Given the description of an element on the screen output the (x, y) to click on. 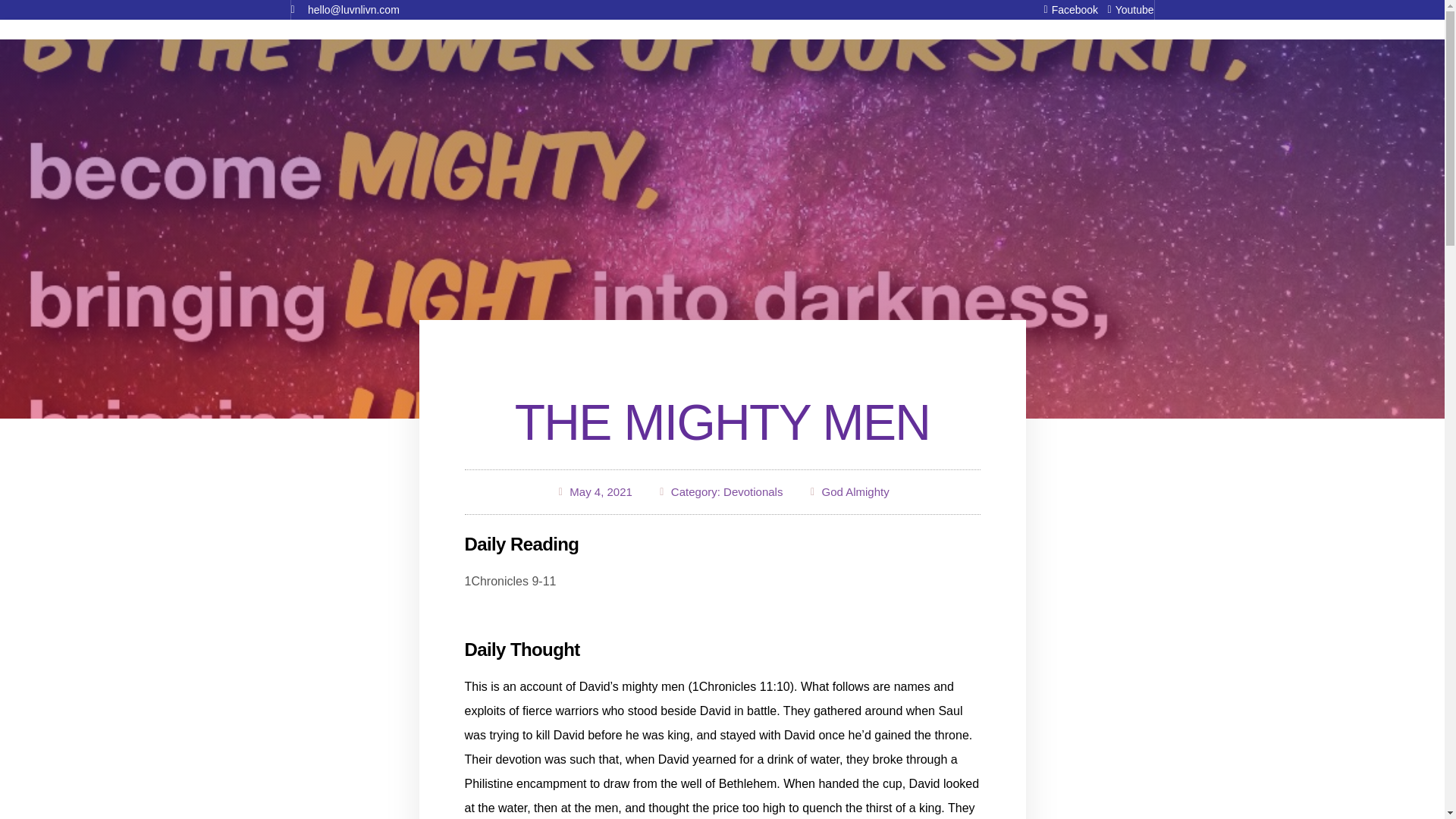
Youtube (1125, 9)
May 4, 2021 (592, 491)
1Chronicles 9-11 (510, 581)
God Almighty (854, 491)
Devotionals (753, 491)
Facebook (1065, 9)
